Given the description of an element on the screen output the (x, y) to click on. 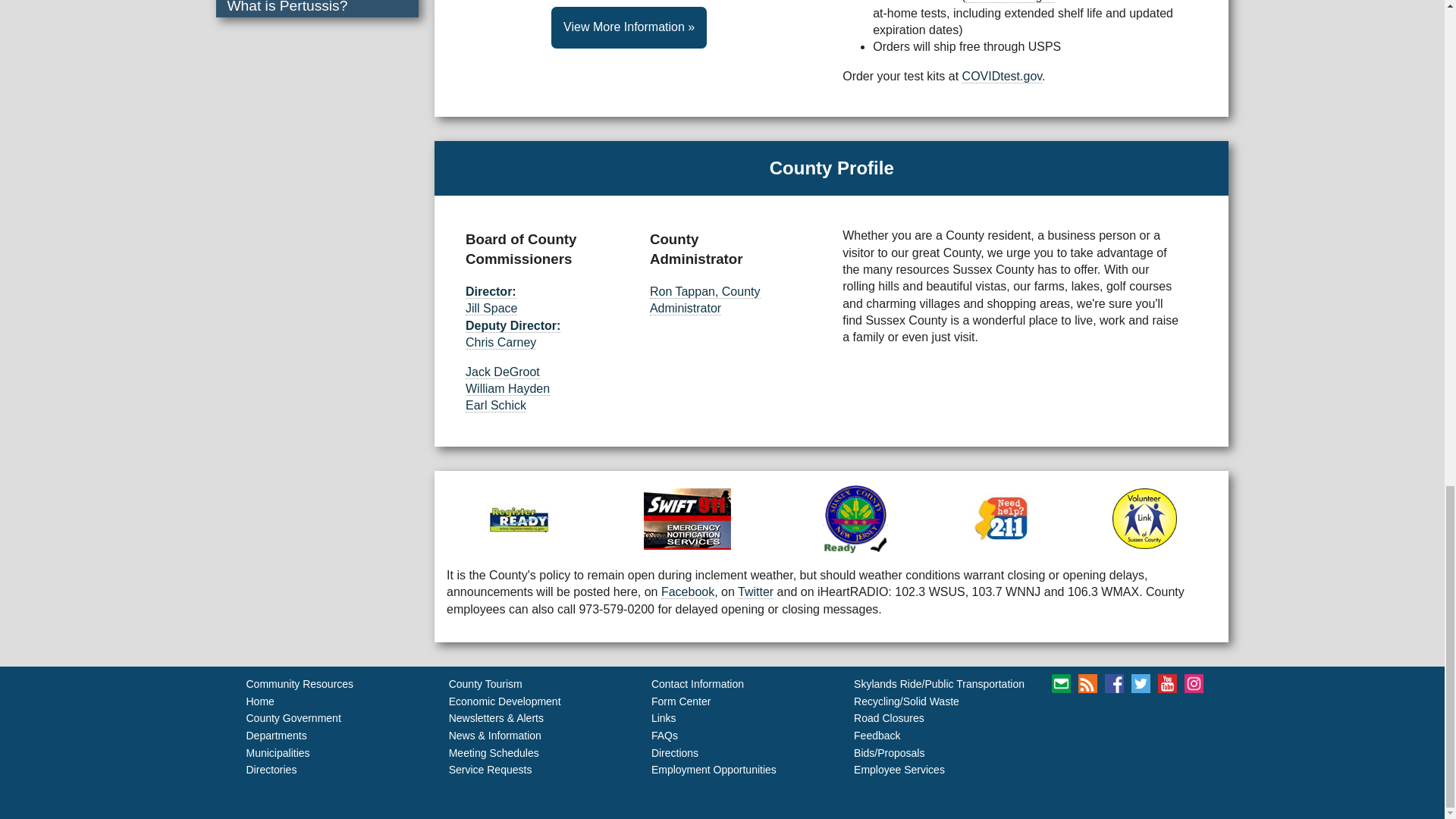
Follow us on Twitter (1099, 728)
Sign Up for emails from Sussex County (1090, 682)
Visit our RSS feed (1163, 682)
Visit our Instagram page (1153, 728)
Register Ready - NJ Special Needs Registry (557, 537)
Visit our YouTube channel (1127, 728)
Register for Community Alerts (749, 537)
Visit our Facebook page (1126, 703)
